Given the description of an element on the screen output the (x, y) to click on. 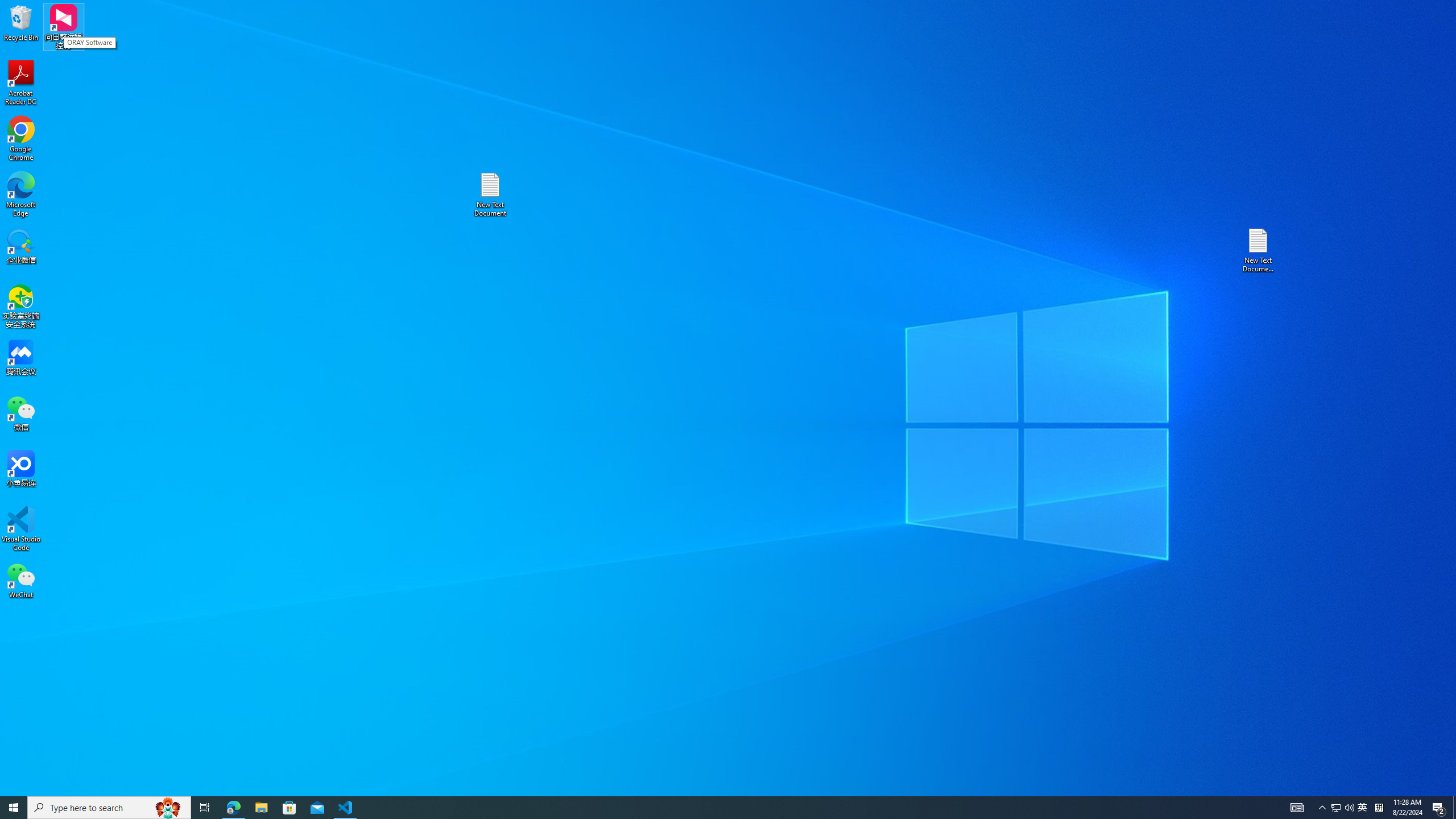
Microsoft Edge - 1 running window (233, 807)
File Explorer (261, 807)
Search highlights icon opens search home window (167, 807)
Start (13, 807)
Q2790: 100% (1349, 807)
Microsoft Store (289, 807)
AutomationID: 4105 (1297, 807)
Microsoft Edge (21, 194)
Notification Chevron (1322, 807)
Type here to search (108, 807)
